Given the description of an element on the screen output the (x, y) to click on. 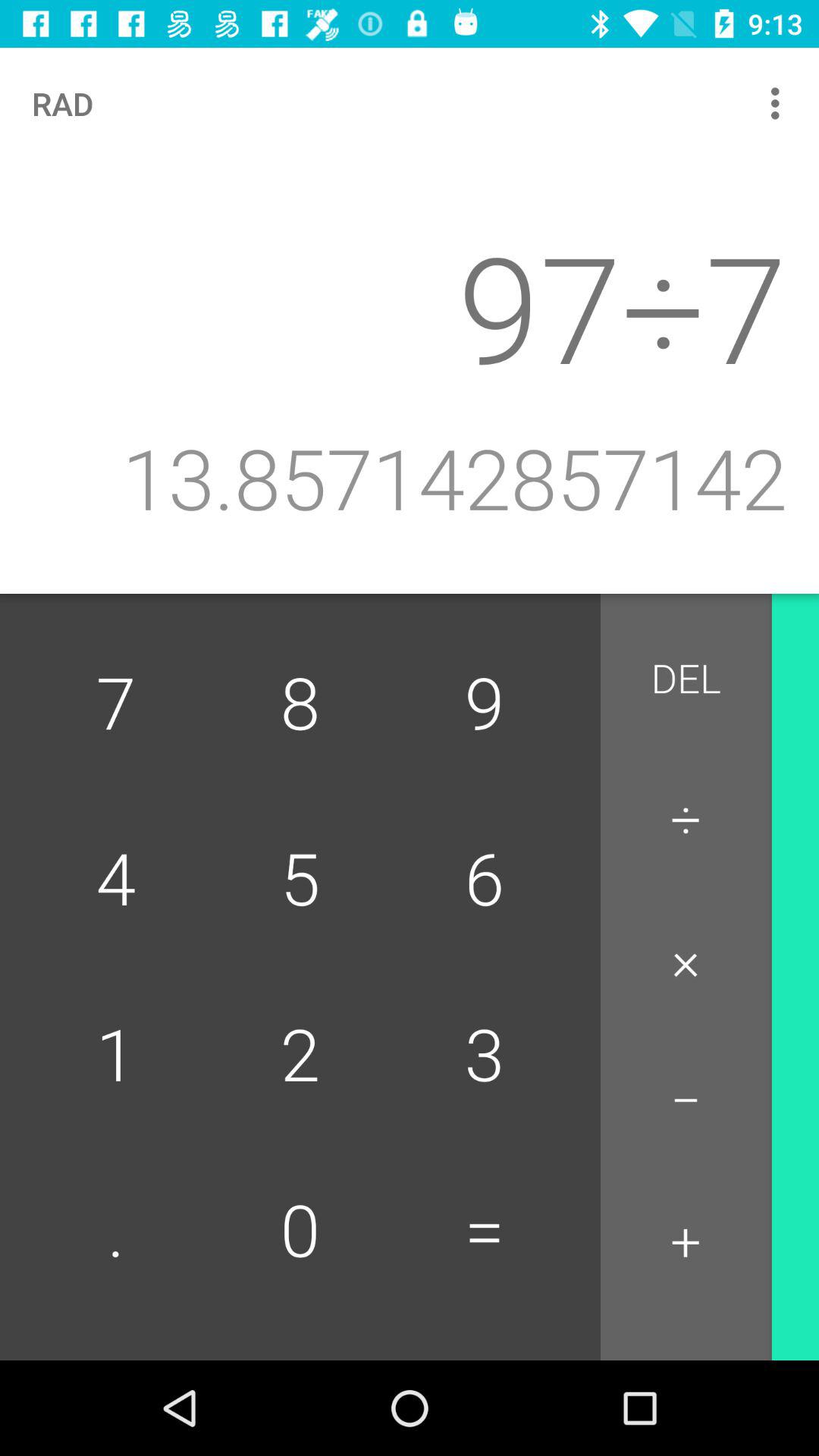
launch the button below the 2 icon (484, 1232)
